Given the description of an element on the screen output the (x, y) to click on. 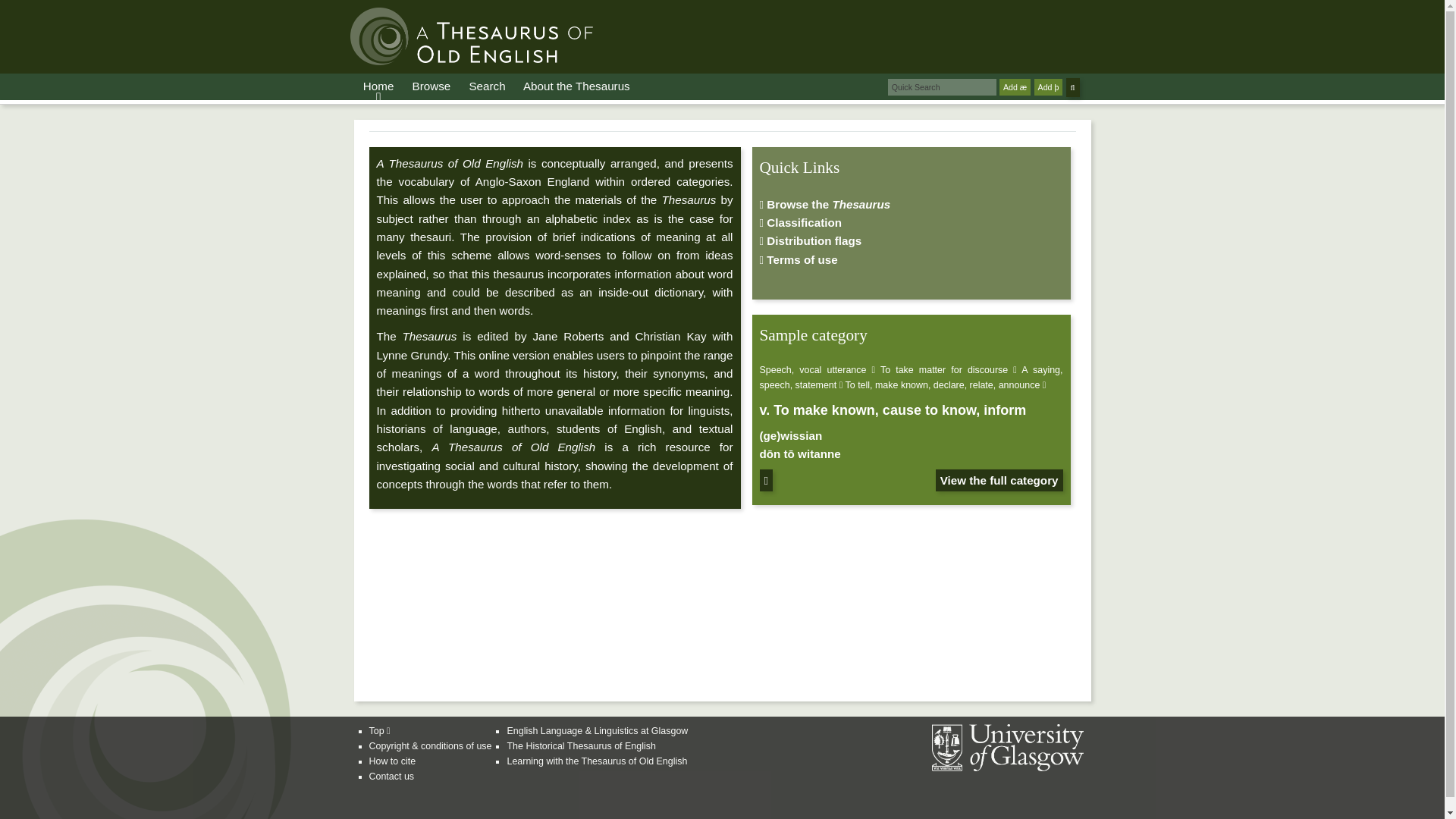
A saying, speech, statement (911, 377)
To take matter for discourse (943, 369)
Classification (801, 222)
v. To make known, cause to know, inform (893, 409)
To tell, make known, declare, relate, announce (943, 385)
Browse (431, 85)
Contact us (390, 776)
View the full category (999, 480)
The Historical Thesaurus of English (580, 746)
How to cite (391, 760)
